Given the description of an element on the screen output the (x, y) to click on. 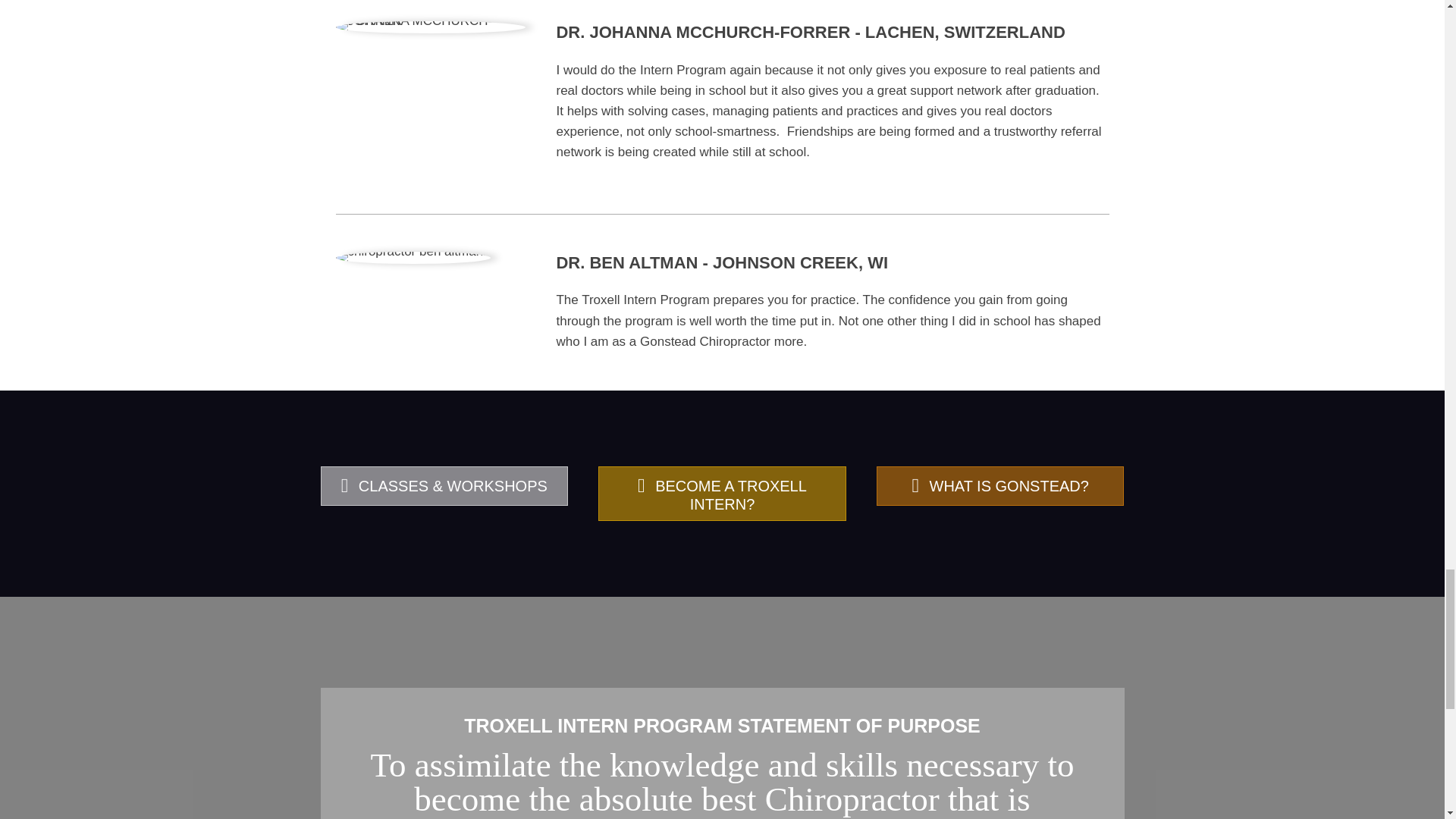
Click Here (443, 486)
BECOME A TROXELL INTERN? (721, 493)
JOHANNA MCCHURCH-FORRER (429, 27)
chiropractor ben altmann (411, 257)
Click Here (721, 493)
WHAT IS GONSTEAD? (1000, 486)
